Given the description of an element on the screen output the (x, y) to click on. 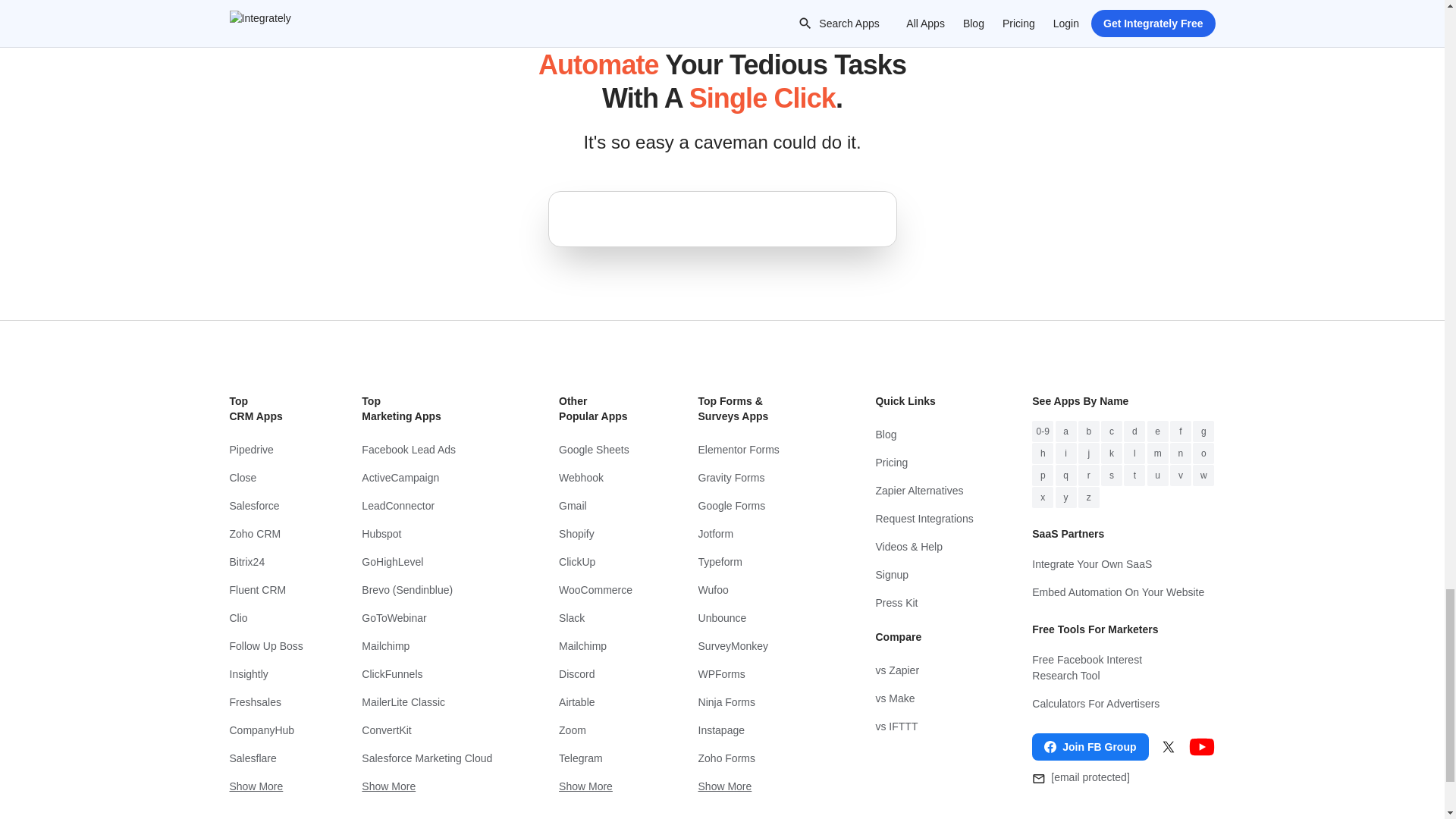
Bitrix24 (265, 561)
LeadConnector (430, 506)
ClickFunnels (430, 674)
Hubspot (430, 533)
Freshsales (265, 702)
Zoho CRM (265, 533)
Clio (265, 618)
Pipedrive (265, 449)
Facebook Lead Ads (430, 449)
Mailchimp (430, 646)
